Given the description of an element on the screen output the (x, y) to click on. 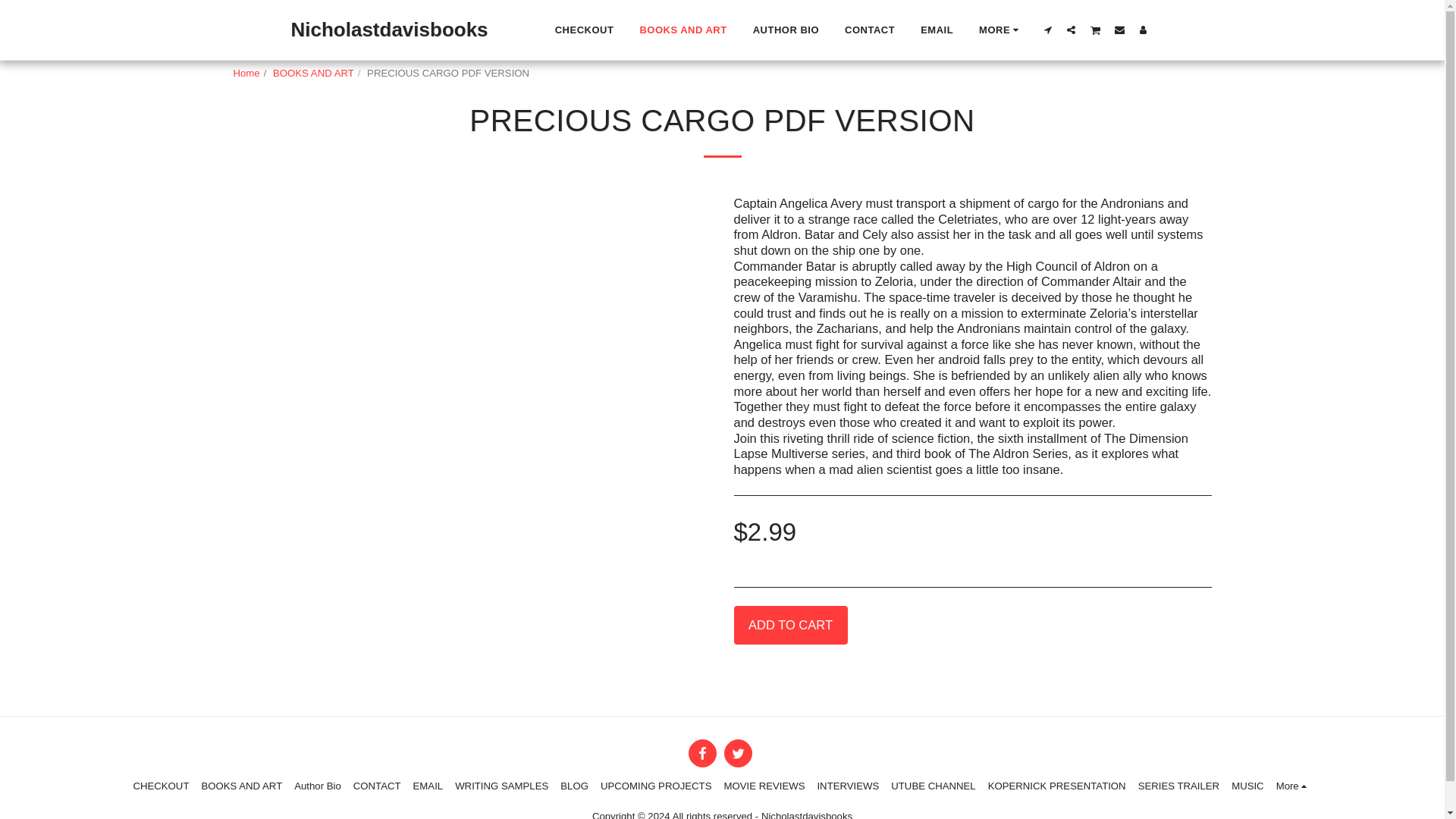
CHECKOUT (584, 29)
MORE   (1000, 29)
CONTACT (869, 29)
EMAIL (936, 29)
BOOKS AND ART (682, 29)
